Given the description of an element on the screen output the (x, y) to click on. 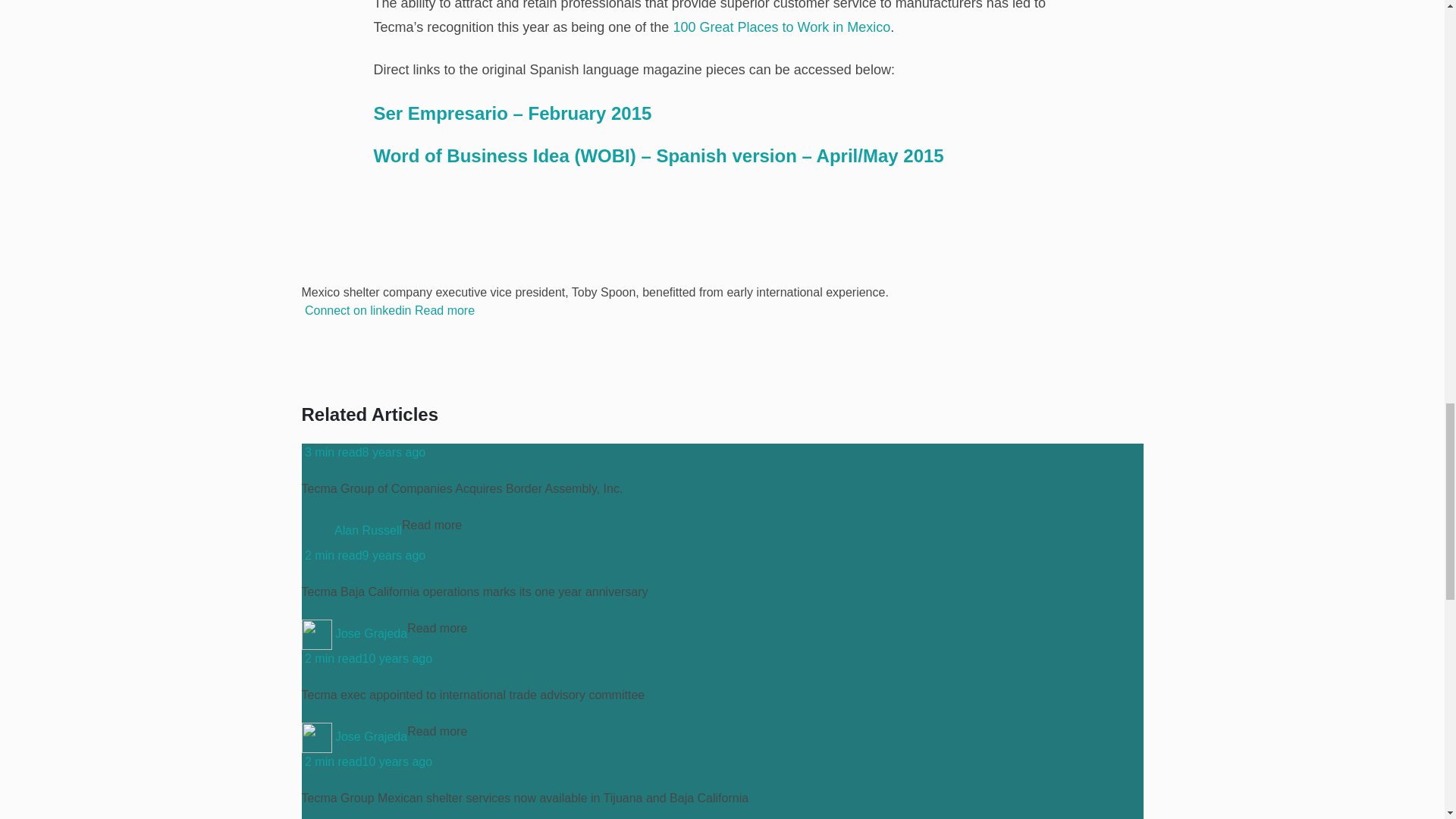
Ser Empresario - Alan Russell (511, 113)
Great Place to Work - Mexico (780, 27)
Tecma Group - World of Business Ideas (657, 155)
